Given the description of an element on the screen output the (x, y) to click on. 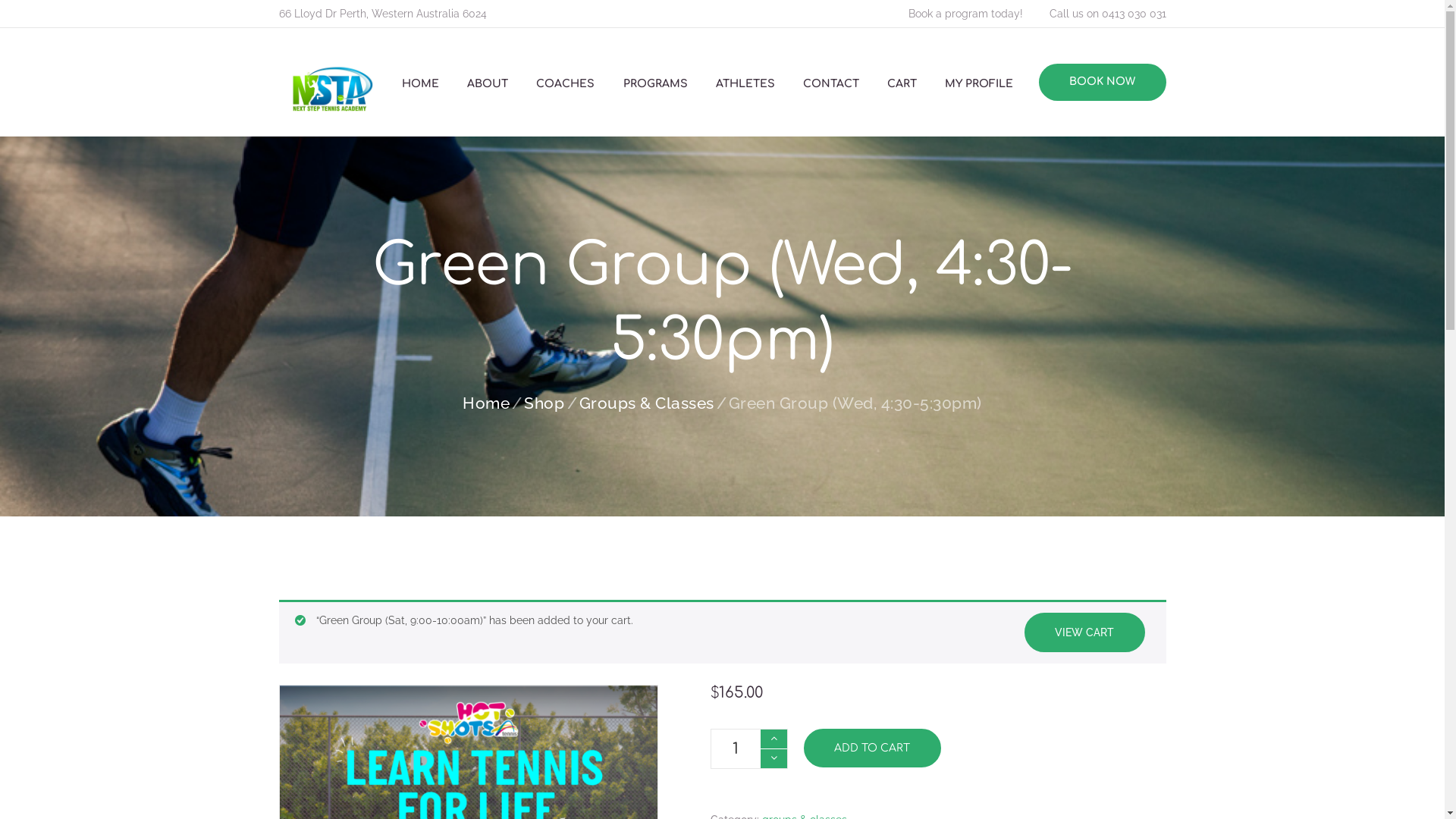
CART Element type: text (902, 83)
MY PROFILE Element type: text (979, 83)
ATHLETES Element type: text (744, 83)
Shop Element type: text (544, 403)
BOOK NOW Element type: text (1101, 81)
COACHES Element type: text (565, 83)
ADD TO CART Element type: text (872, 748)
ABOUT Element type: text (487, 83)
CONTACT Element type: text (830, 83)
Groups & Classes Element type: text (646, 403)
HOME Element type: text (419, 83)
VIEW CART Element type: text (1083, 632)
PROGRAMS Element type: text (654, 83)
Home Element type: text (485, 403)
